Given the description of an element on the screen output the (x, y) to click on. 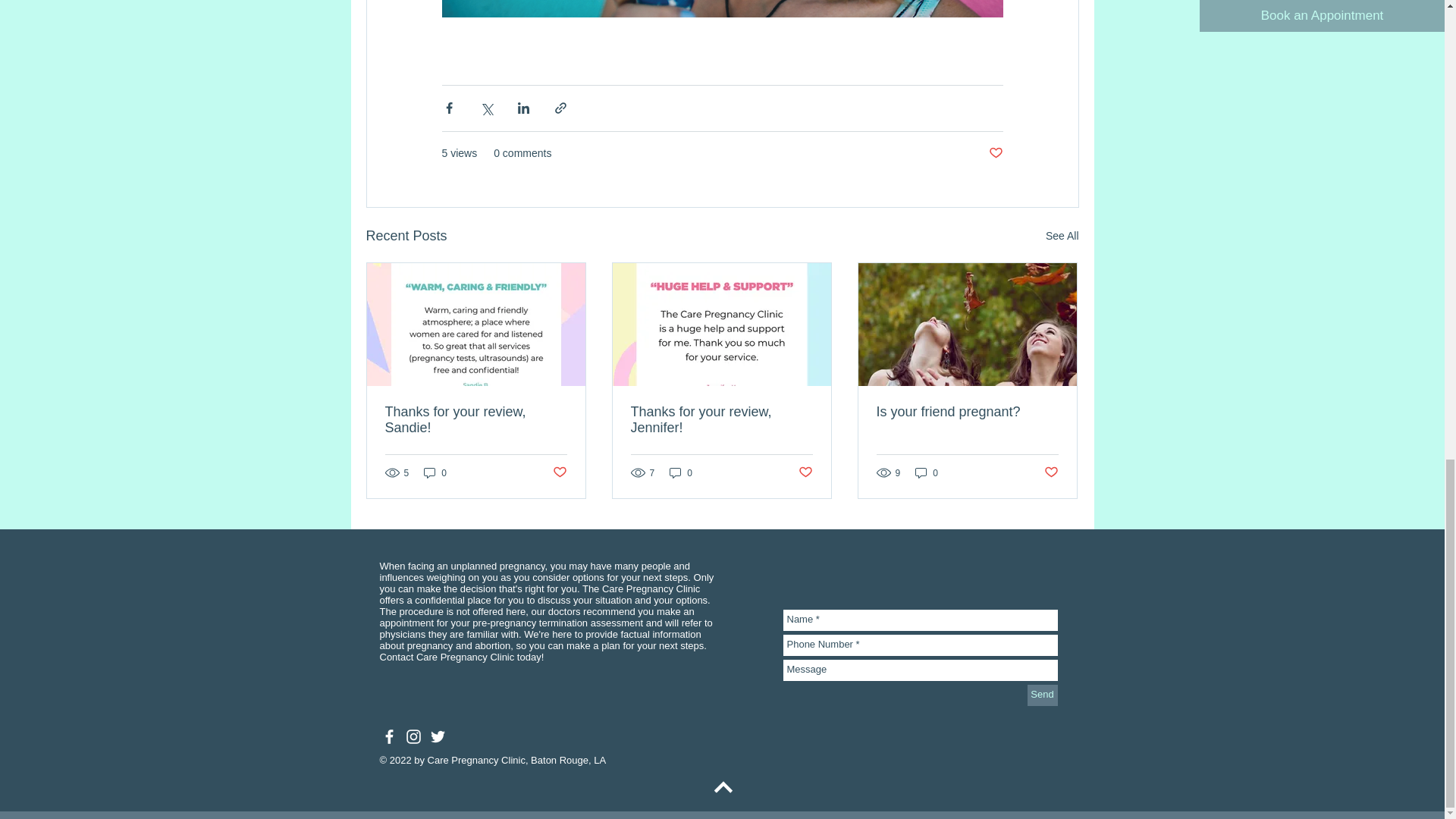
Thanks for your review, Sandie! (476, 419)
0 (926, 472)
See All (1061, 236)
Post not marked as liked (558, 472)
Thanks for your review, Jennifer! (721, 419)
Post not marked as liked (804, 472)
Post not marked as liked (995, 153)
Post not marked as liked (1050, 472)
Is your friend pregnant? (967, 412)
0 (681, 472)
